Given the description of an element on the screen output the (x, y) to click on. 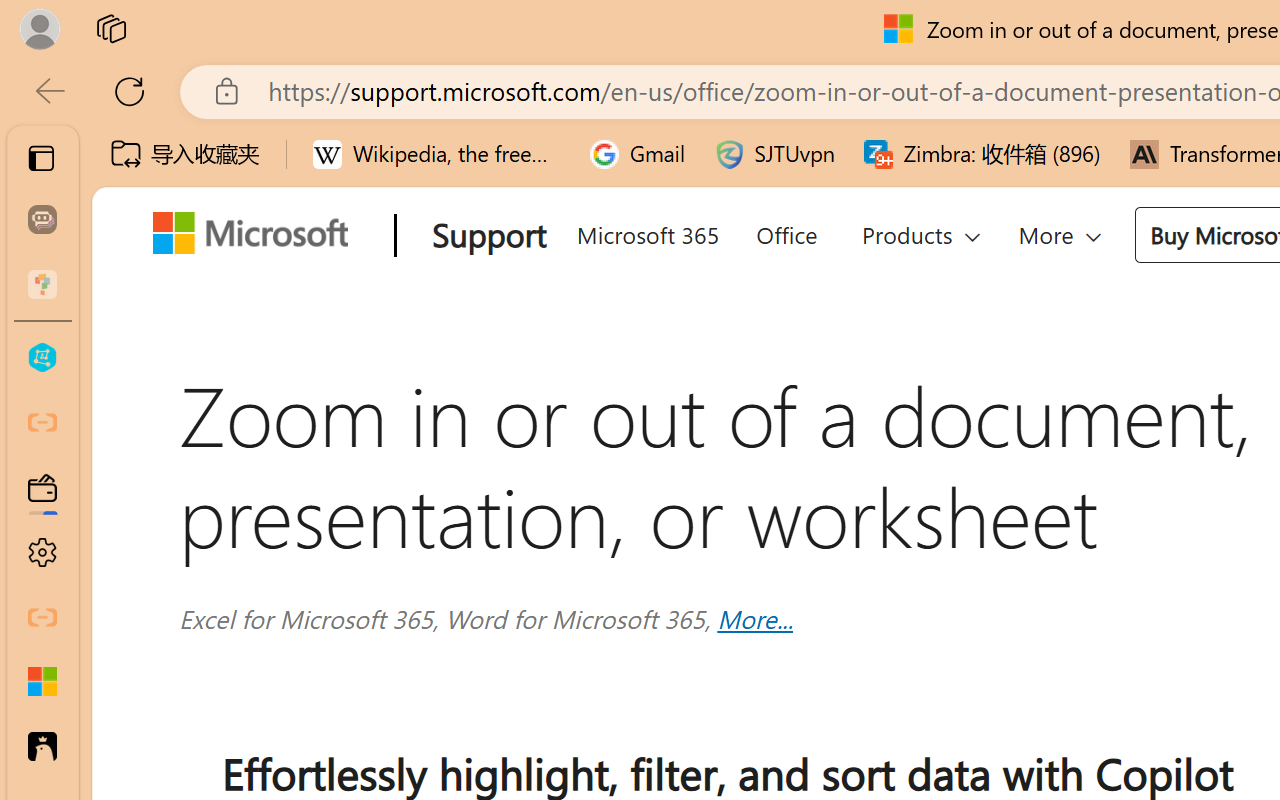
Gmail (637, 154)
Microsoft (257, 237)
Wikipedia, the free encyclopedia (437, 154)
Microsoft 365 (646, 232)
